Given the description of an element on the screen output the (x, y) to click on. 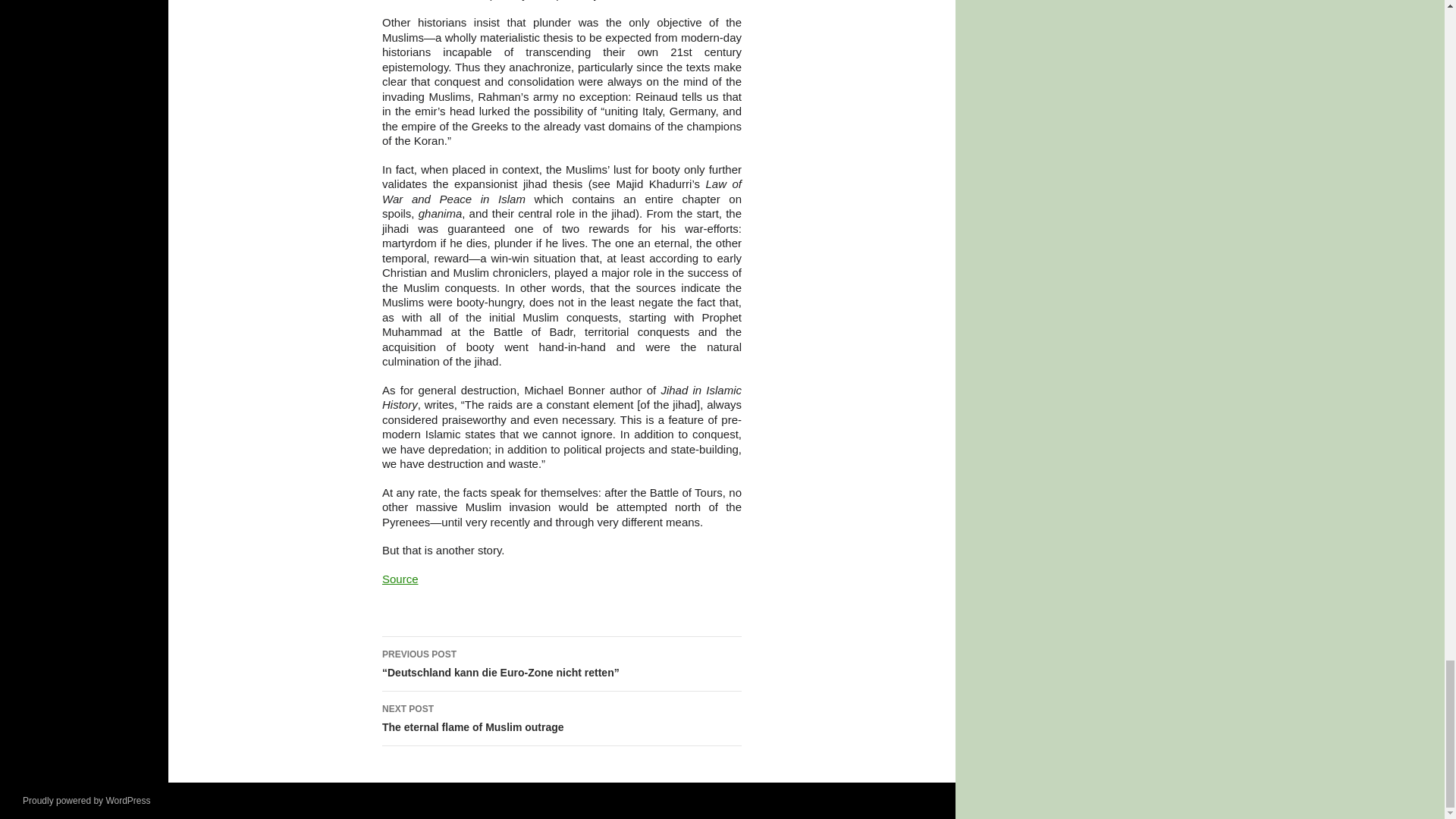
Source (400, 578)
